Given the description of an element on the screen output the (x, y) to click on. 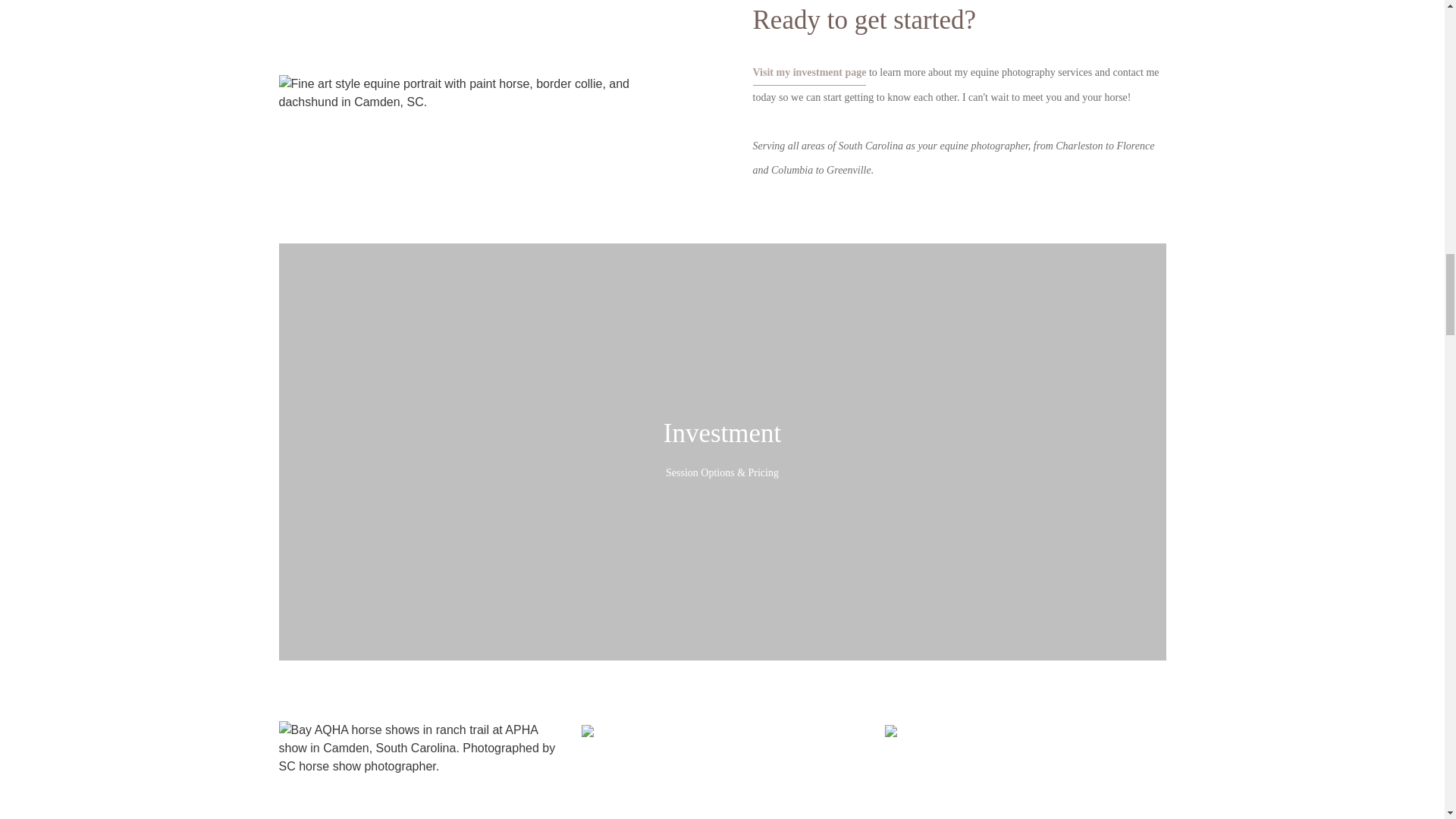
Visit my investment page (809, 71)
